Given the description of an element on the screen output the (x, y) to click on. 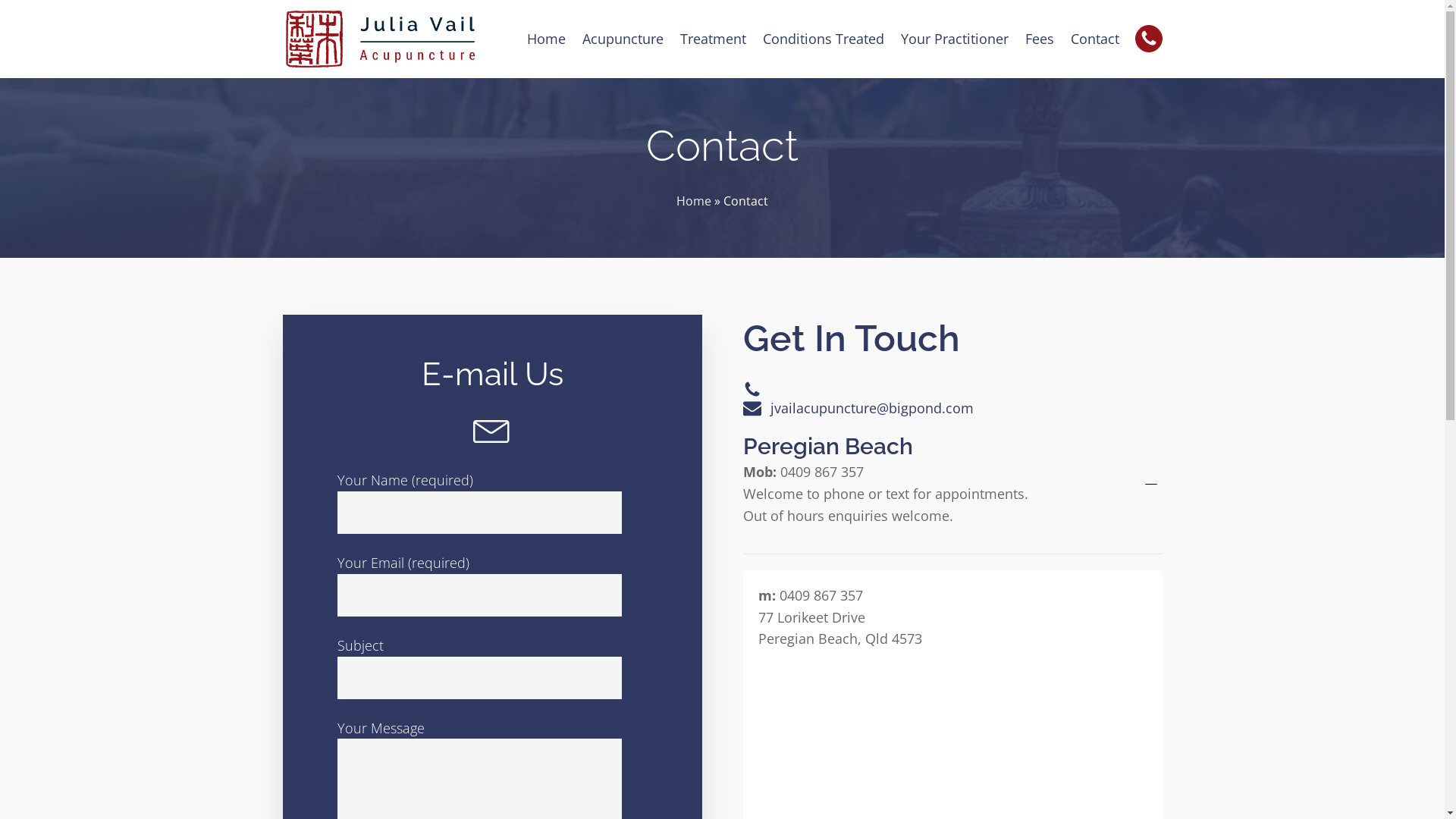
Conditions Treated Element type: text (822, 38)
Home Element type: text (693, 200)
Treatment Element type: text (712, 38)
Home Element type: text (546, 38)
Your Practitioner Element type: text (953, 38)
Fees Element type: text (1038, 38)
Contact Element type: text (1093, 38)
Acupuncture Element type: text (622, 38)
jvailacupuncture@bigpond.com Element type: text (871, 407)
